Given the description of an element on the screen output the (x, y) to click on. 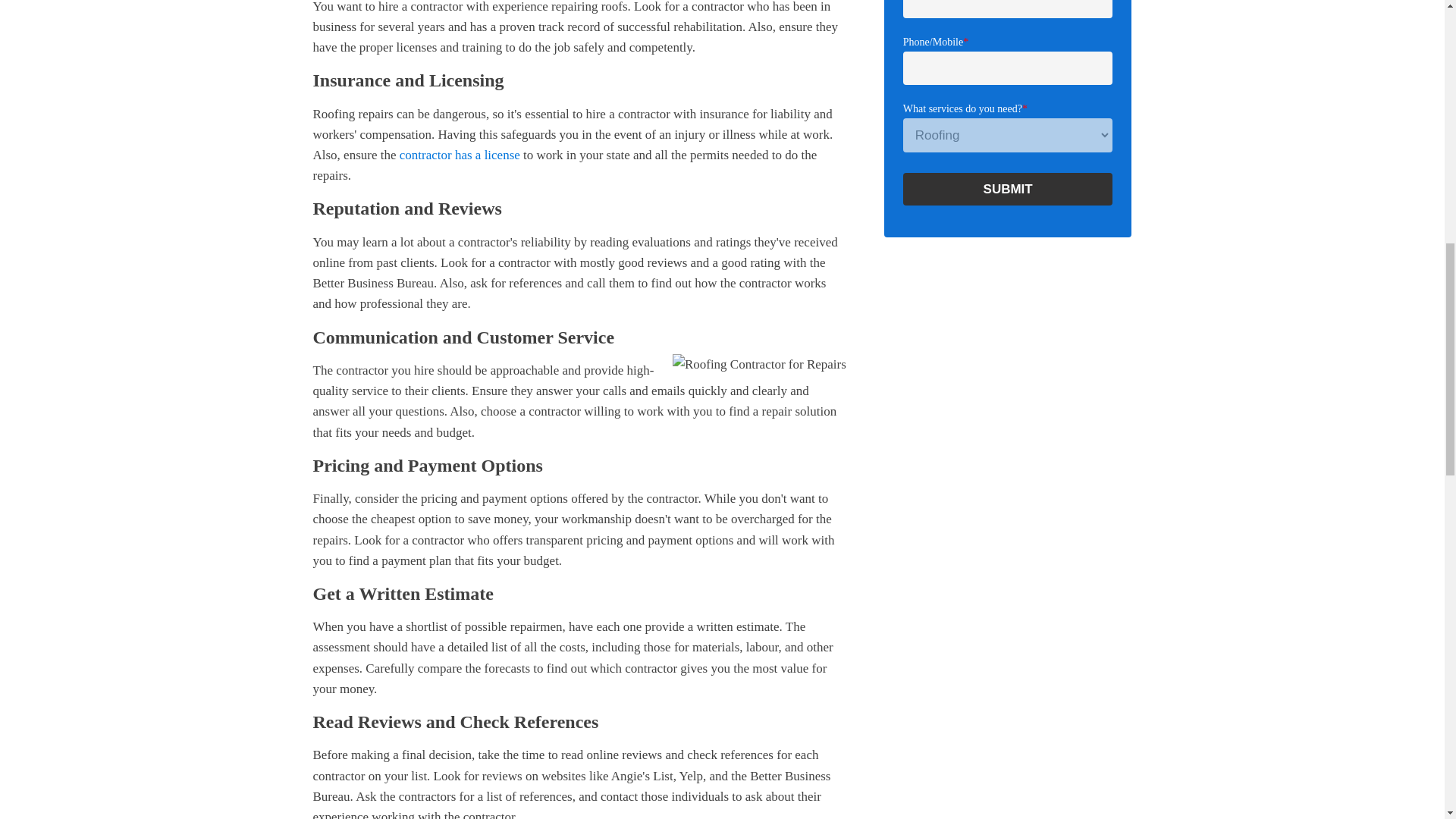
Submit (1007, 188)
contractor has a license (458, 155)
Submit (1007, 188)
